Given the description of an element on the screen output the (x, y) to click on. 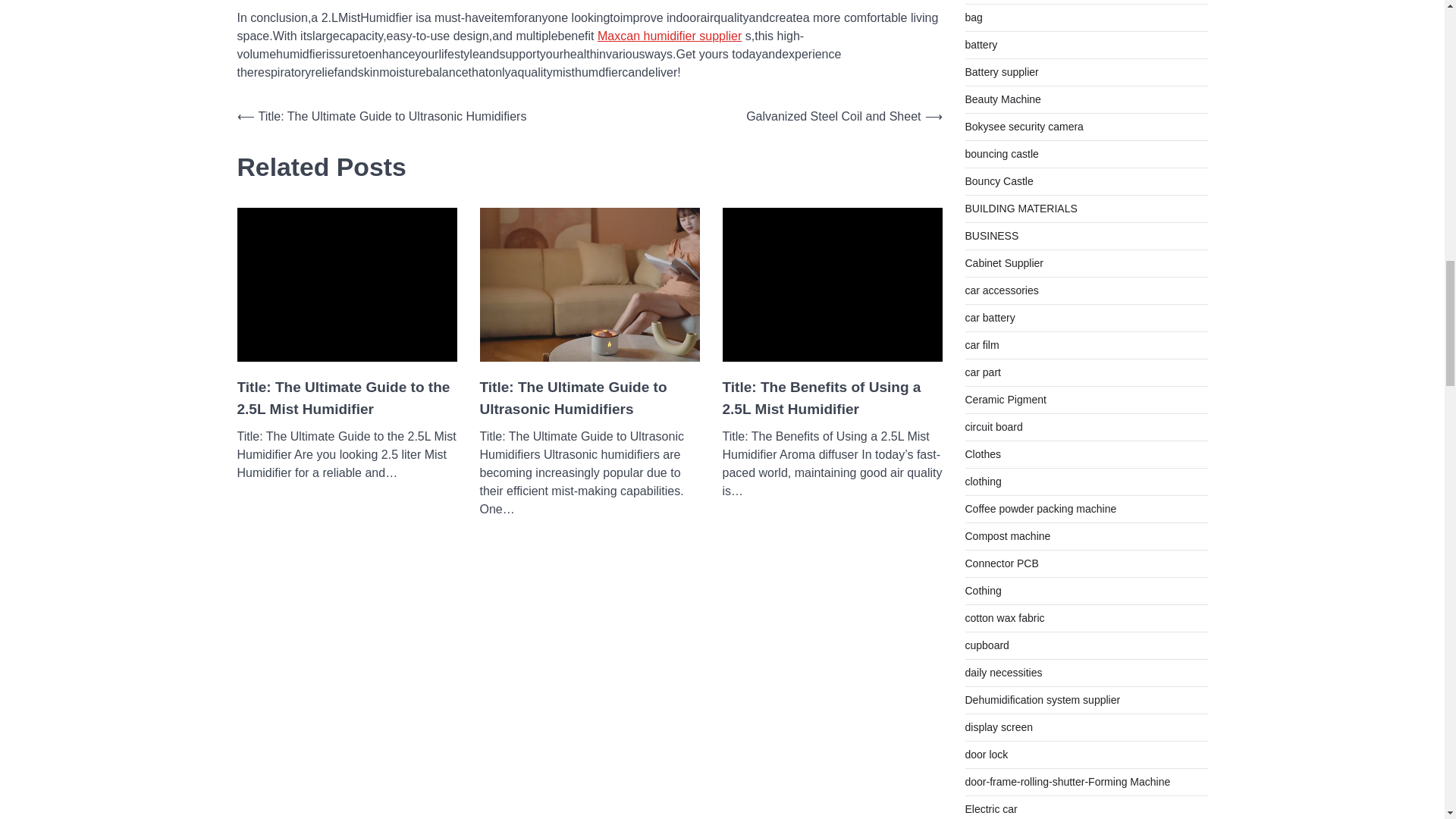
Maxcan humidifier supplier (668, 35)
Title: The Benefits of Using a 2.5L Mist Humidifier (832, 398)
Title: The Ultimate Guide to Ultrasonic Humidifiers (588, 398)
Title: The Ultimate Guide to the 2.5L Mist Humidifier (346, 398)
